Given the description of an element on the screen output the (x, y) to click on. 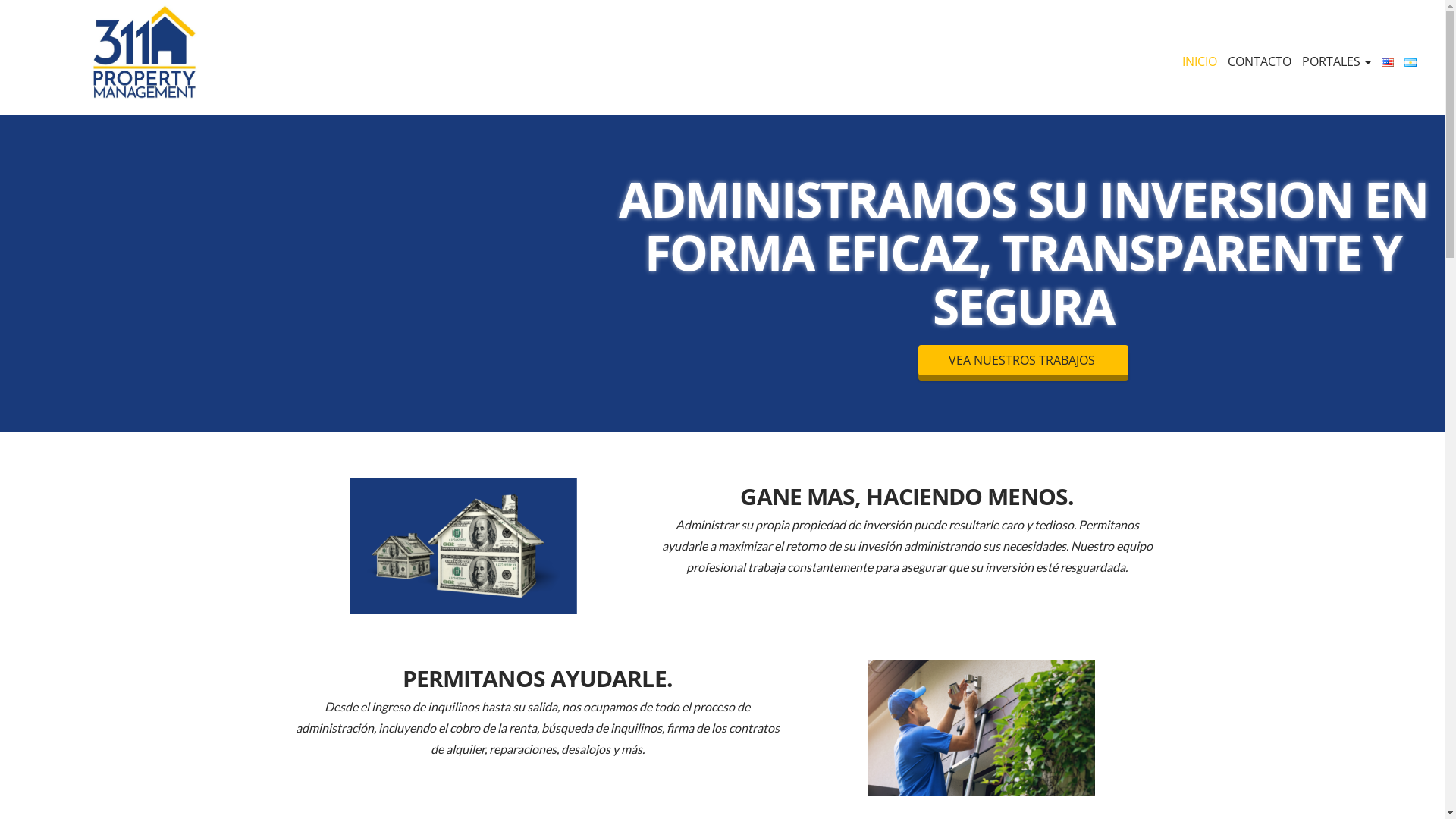
VEA NUESTROS TRABAJOS  Element type: text (1023, 360)
CONTACTO Element type: text (1259, 61)
INICIO Element type: text (1199, 61)
English Element type: hover (1387, 62)
PORTALES Element type: text (1336, 61)
